Given the description of an element on the screen output the (x, y) to click on. 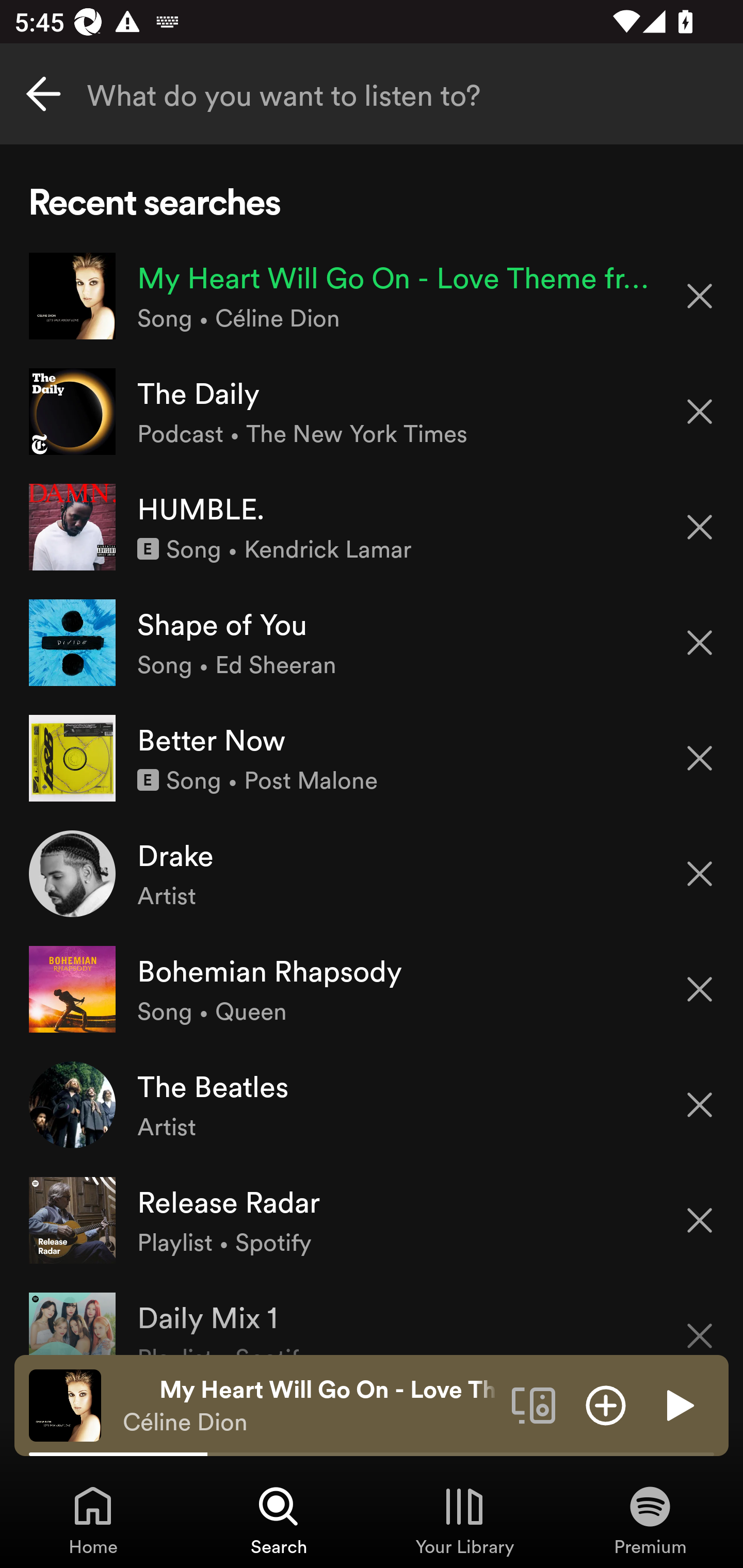
What do you want to listen to? (371, 93)
Cancel (43, 93)
Remove (699, 295)
The Daily Podcast • The New York Times Remove (371, 411)
Remove (699, 411)
HUMBLE. Explicit Song • Kendrick Lamar Remove (371, 526)
Remove (699, 527)
Shape of You Song • Ed Sheeran Remove (371, 642)
Remove (699, 642)
Better Now Explicit Song • Post Malone Remove (371, 757)
Remove (699, 758)
Drake Artist Remove (371, 873)
Remove (699, 874)
Bohemian Rhapsody Song • Queen Remove (371, 989)
Remove (699, 989)
The Beatles Artist Remove (371, 1104)
Remove (699, 1104)
Release Radar Playlist • Spotify Remove (371, 1219)
Remove (699, 1220)
Daily Mix 1 Playlist • Spotify Remove (371, 1315)
Remove (699, 1323)
The cover art of the currently playing track (64, 1404)
Connect to a device. Opens the devices menu (533, 1404)
Add item (605, 1404)
Play (677, 1404)
Home, Tab 1 of 4 Home Home (92, 1519)
Search, Tab 2 of 4 Search Search (278, 1519)
Your Library, Tab 3 of 4 Your Library Your Library (464, 1519)
Premium, Tab 4 of 4 Premium Premium (650, 1519)
